Given the description of an element on the screen output the (x, y) to click on. 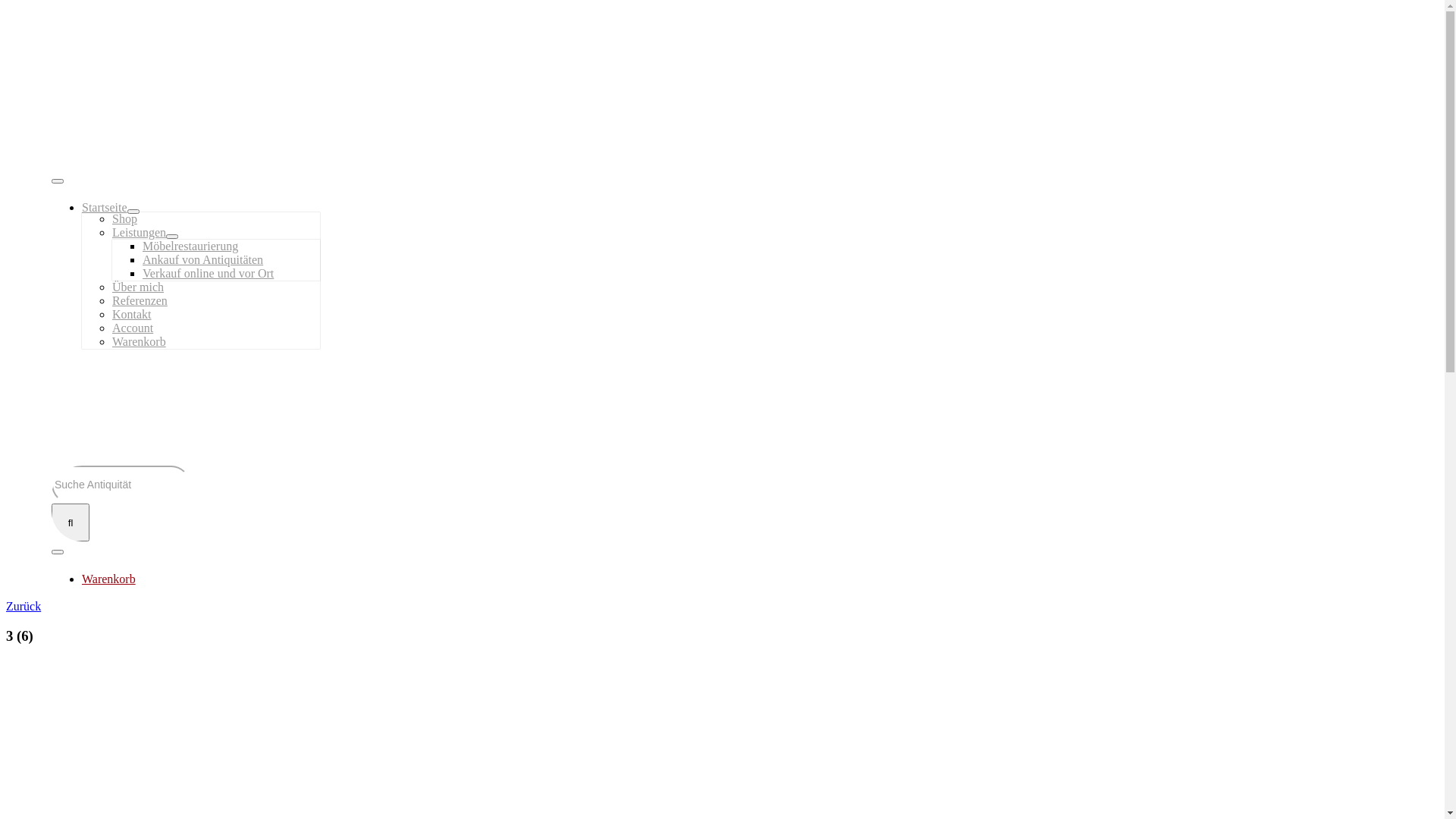
Account Element type: text (132, 327)
Toggle Navigation Element type: text (57, 551)
Startseite Element type: text (104, 206)
Shop Element type: text (124, 218)
Toggle Navigation Element type: text (57, 180)
Warenkorb Element type: text (108, 578)
Referenzen Element type: text (139, 300)
Warenkorb Element type: text (139, 341)
Leistungen Element type: text (139, 232)
Kontakt Element type: text (131, 314)
Verkauf online und vor Ort Element type: text (207, 273)
Zum Inhalt springen Element type: text (5, 11)
